Given the description of an element on the screen output the (x, y) to click on. 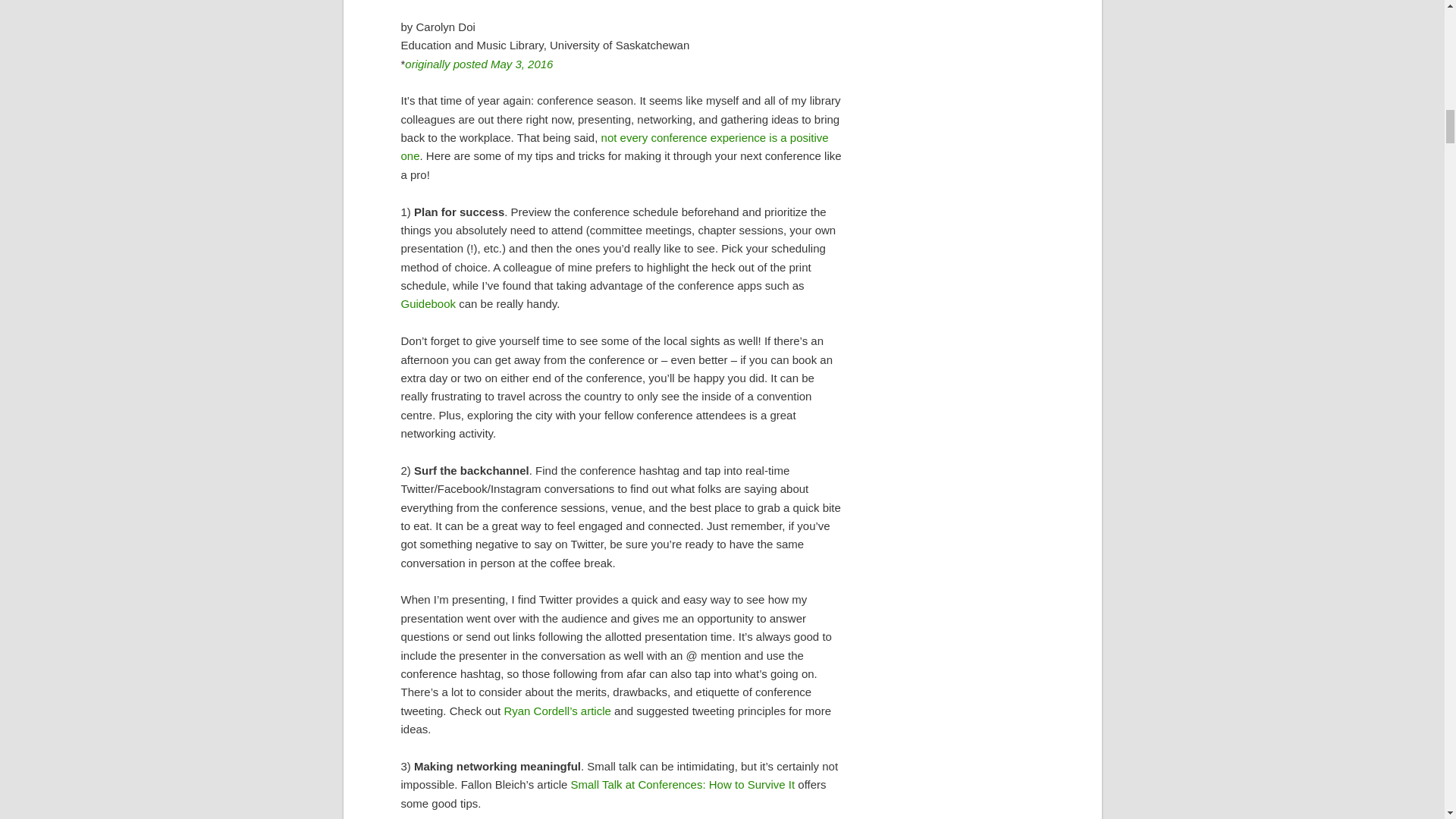
originally posted May 3, 2016 (478, 63)
Guidebook (427, 303)
not every conference experience is a positive one (614, 146)
Small Talk at Conferences: How to Survive It (682, 784)
